Given the description of an element on the screen output the (x, y) to click on. 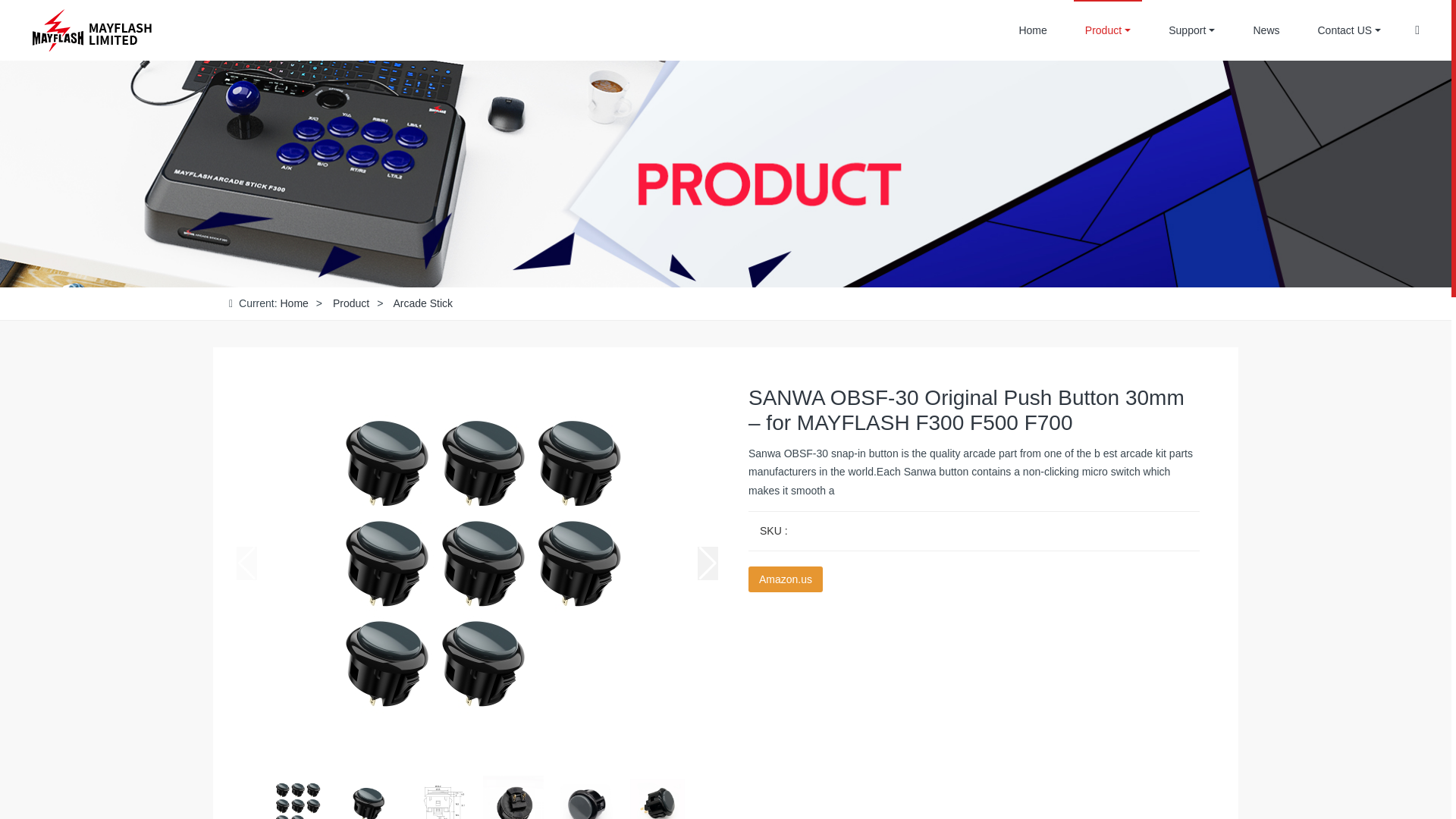
Home (293, 303)
Product (351, 303)
Arcade Stick (422, 303)
Product (1107, 30)
Contact US (1348, 30)
Support (1191, 30)
MAYFLASH Limited Game Accessory Manufacture (90, 30)
Product (1107, 30)
Support (1191, 30)
